Given the description of an element on the screen output the (x, y) to click on. 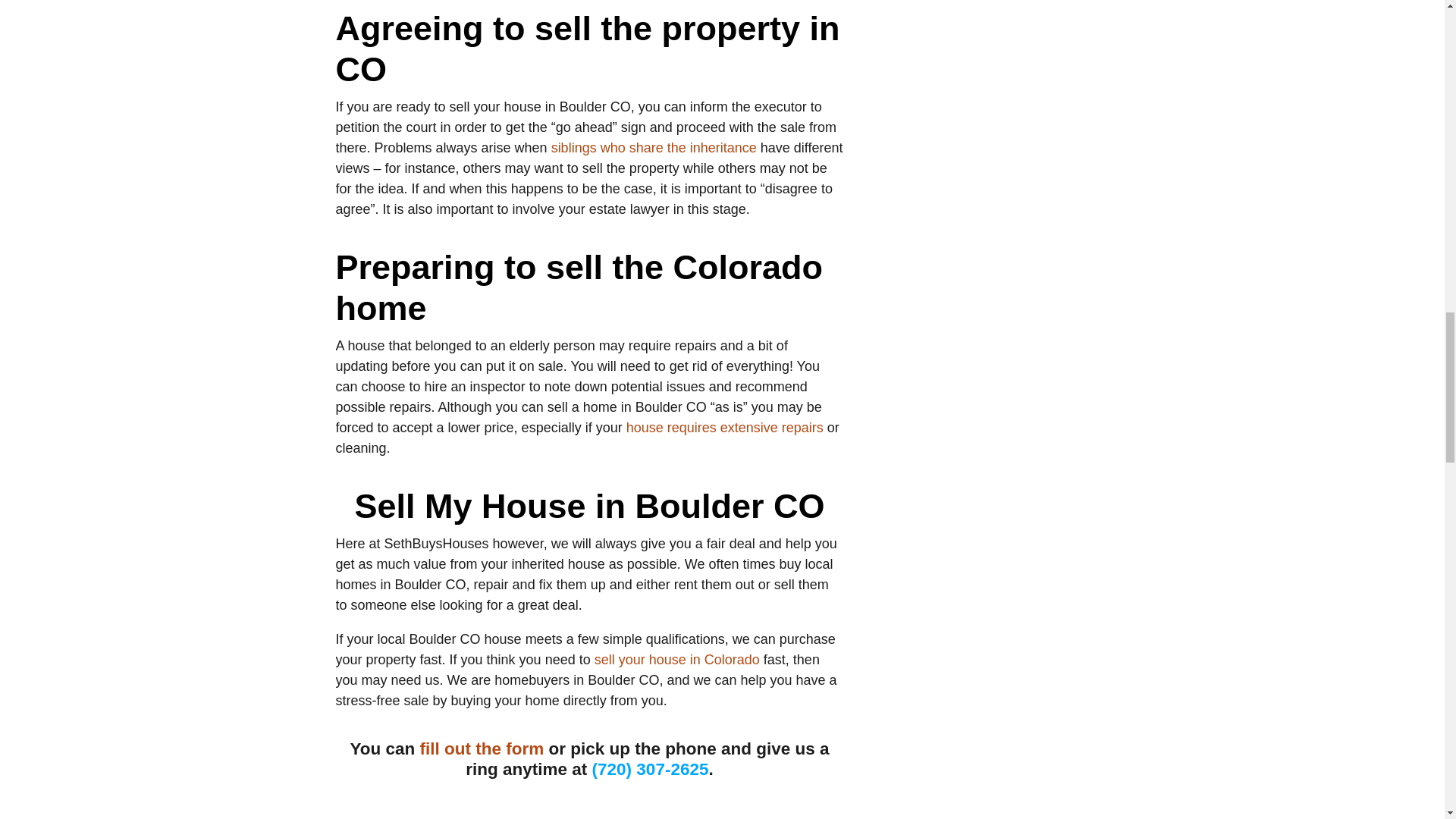
house requires extensive repairs (725, 427)
sell your house in Colorado (677, 659)
fill out the form (482, 748)
siblings who share the inheritance (654, 147)
